Given the description of an element on the screen output the (x, y) to click on. 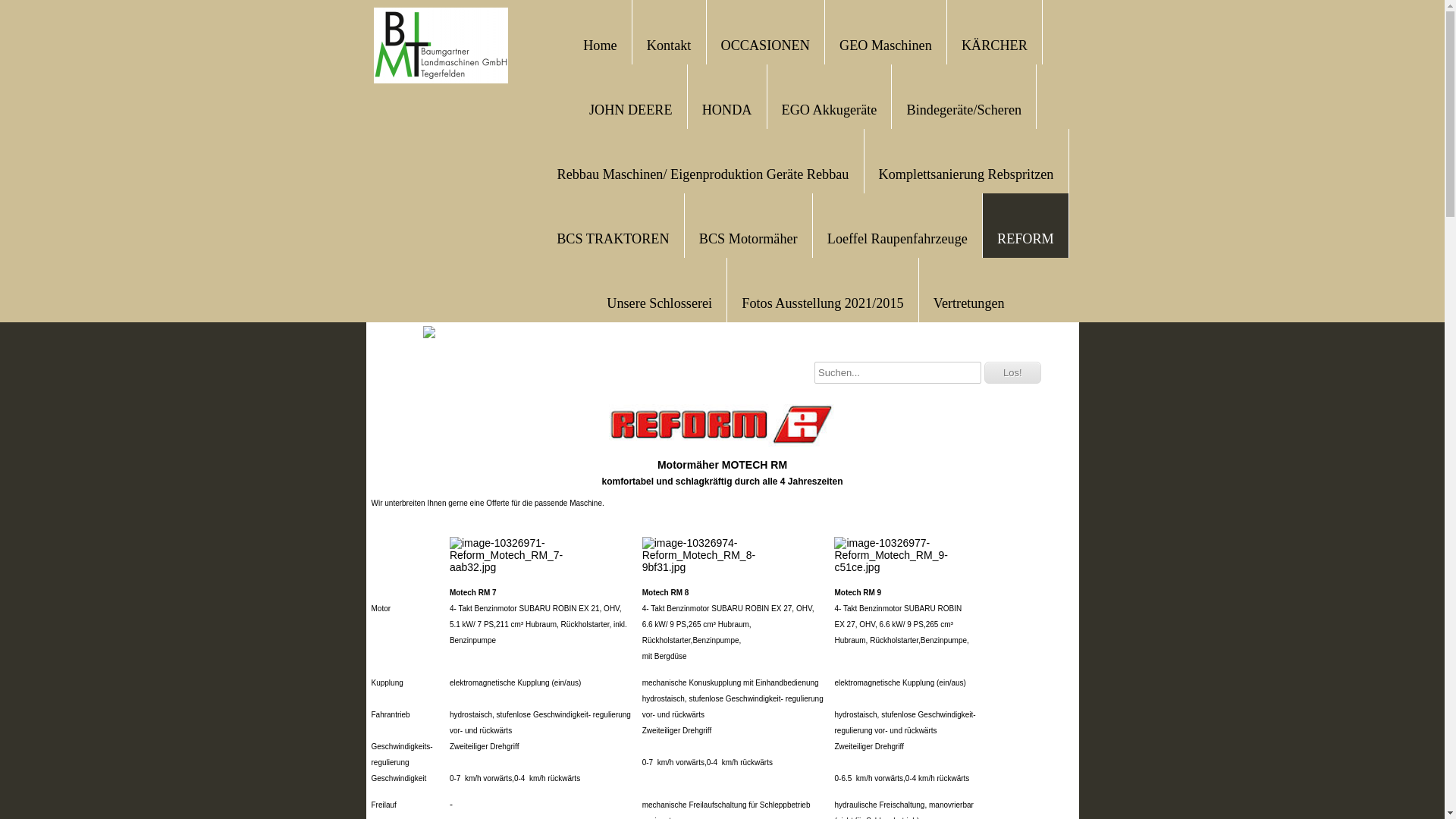
Komplettsanierung Rebspritzen Element type: text (966, 172)
Loeffel Raupenfahrzeuge Element type: text (897, 236)
BCS TRAKTOREN Element type: text (612, 236)
HONDA Element type: text (726, 107)
Home Element type: text (599, 43)
Vertretungen Element type: text (968, 301)
Los! Element type: text (1012, 372)
JOHN DEERE Element type: text (630, 107)
Kontakt Element type: text (669, 43)
OCCASIONEN Element type: text (765, 43)
Unsere Schlosserei Element type: text (659, 301)
REFORM Element type: text (1025, 236)
Fotos Ausstellung 2021/2015 Element type: text (822, 301)
GEO Maschinen Element type: text (885, 43)
